Given the description of an element on the screen output the (x, y) to click on. 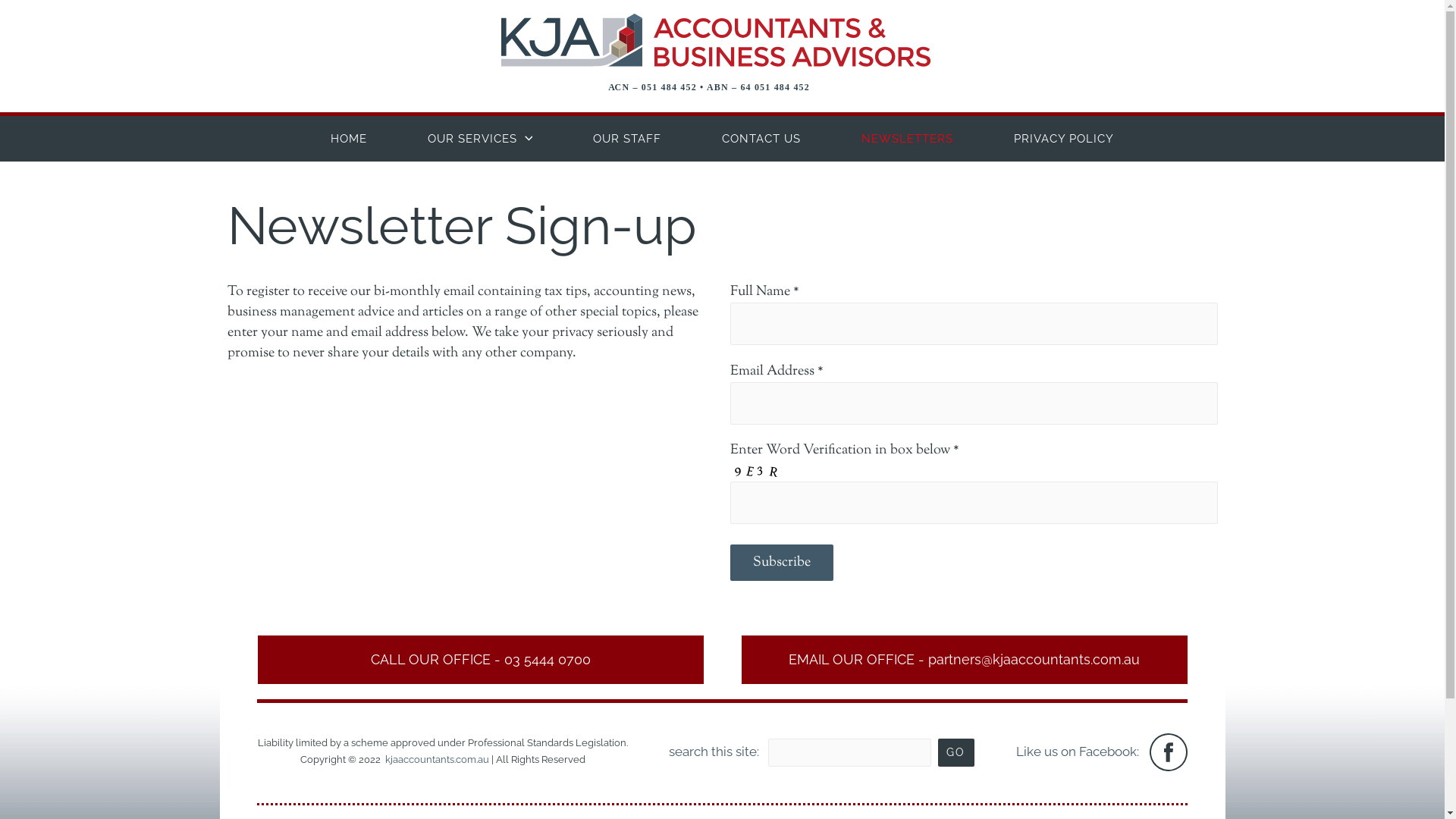
OUR STAFF Element type: text (626, 138)
   Element type: text (1145, 750)
03 5444 0700 Element type: text (546, 659)
GO Element type: text (956, 752)
 kjaaccountants.com.au Element type: text (436, 759)
Subscribe Element type: text (780, 562)
partners@kjaaccountants.com.au Element type: text (1033, 659)
NEWSLETTERS Element type: text (907, 138)
CONTACT US Element type: text (761, 138)
PRIVACY POLICY Element type: text (1063, 138)
OUR SERVICES Element type: text (480, 138)
HOME Element type: text (348, 138)
